Given the description of an element on the screen output the (x, y) to click on. 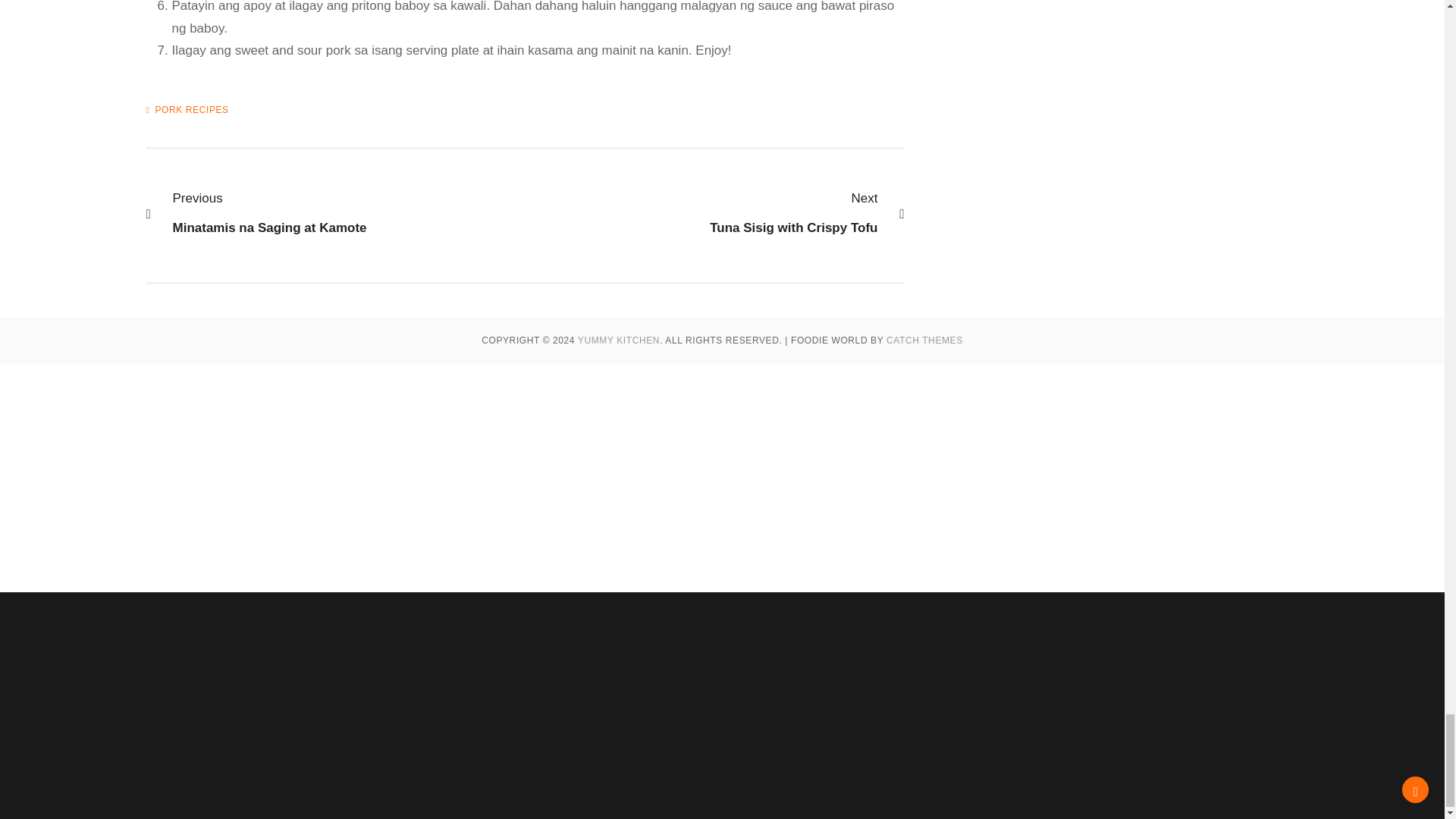
PORK RECIPES (706, 213)
